Given the description of an element on the screen output the (x, y) to click on. 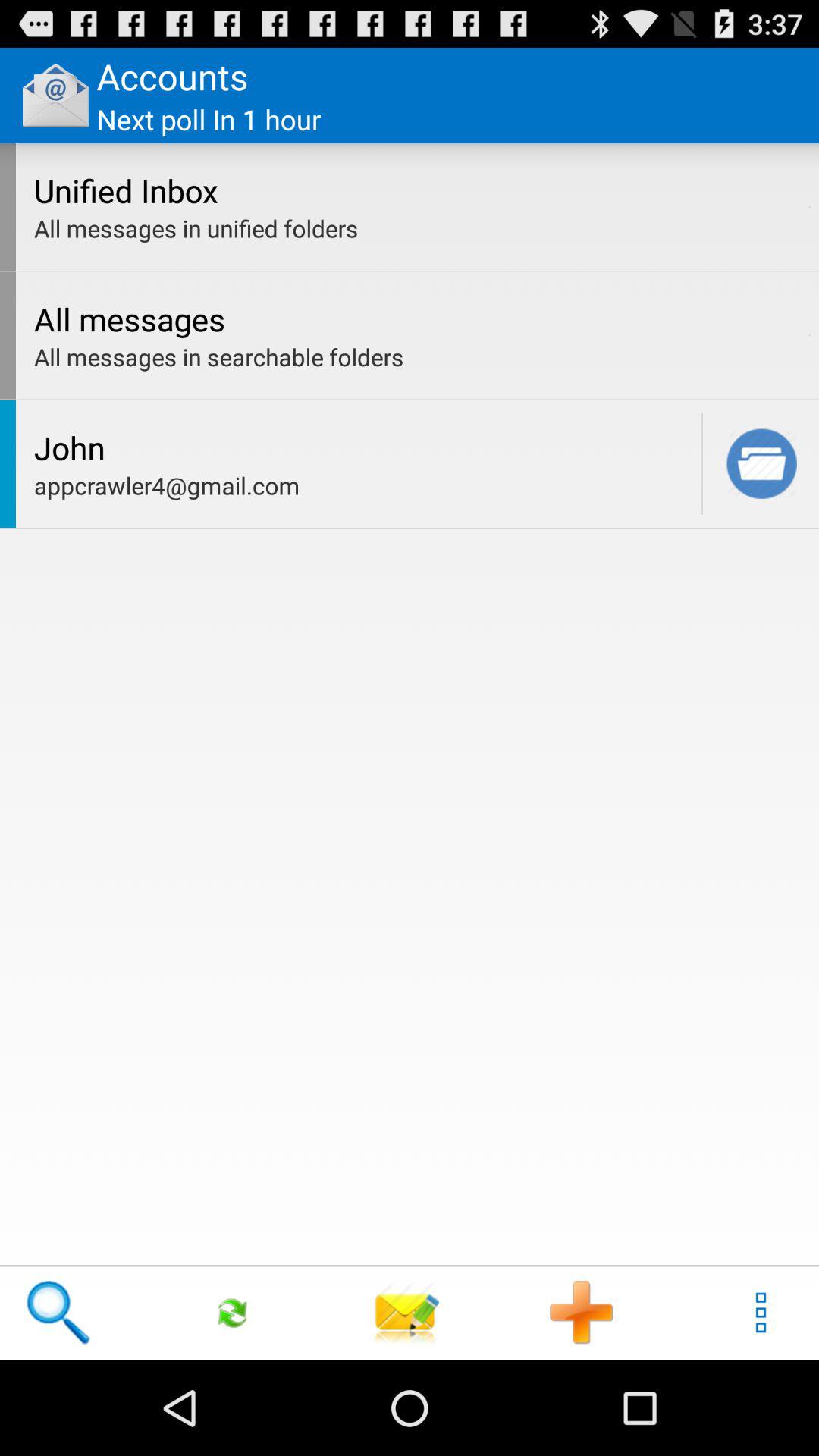
choose icon to the right of the all messages item (809, 335)
